Given the description of an element on the screen output the (x, y) to click on. 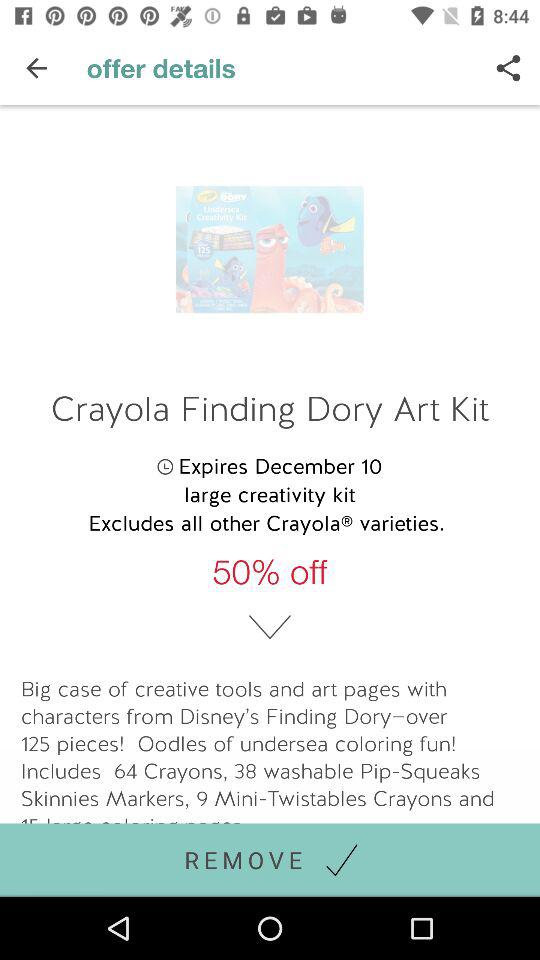
click the icon above crayola finding dory (36, 67)
